Given the description of an element on the screen output the (x, y) to click on. 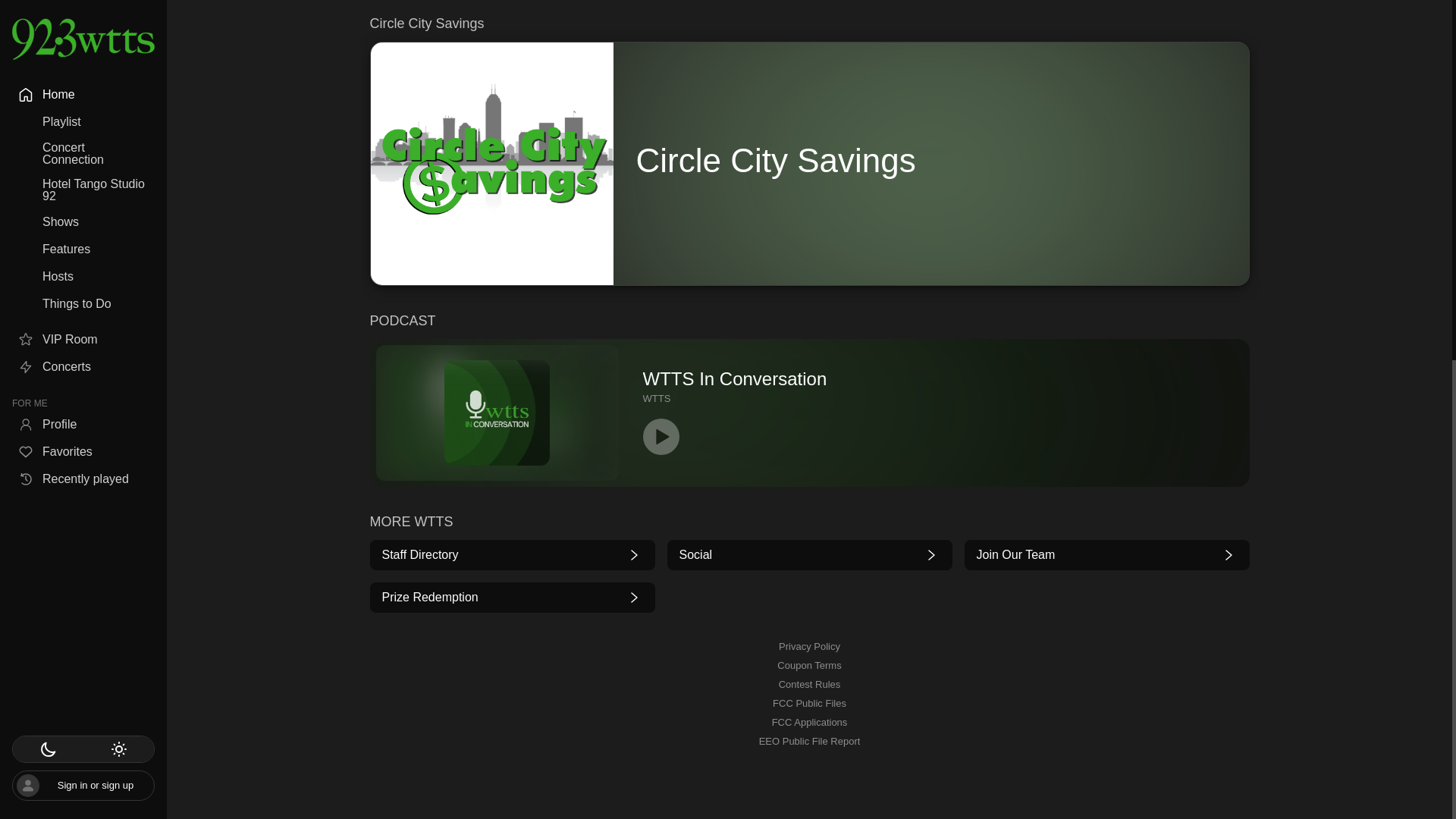
Sign in or sign up (809, 412)
